Given the description of an element on the screen output the (x, y) to click on. 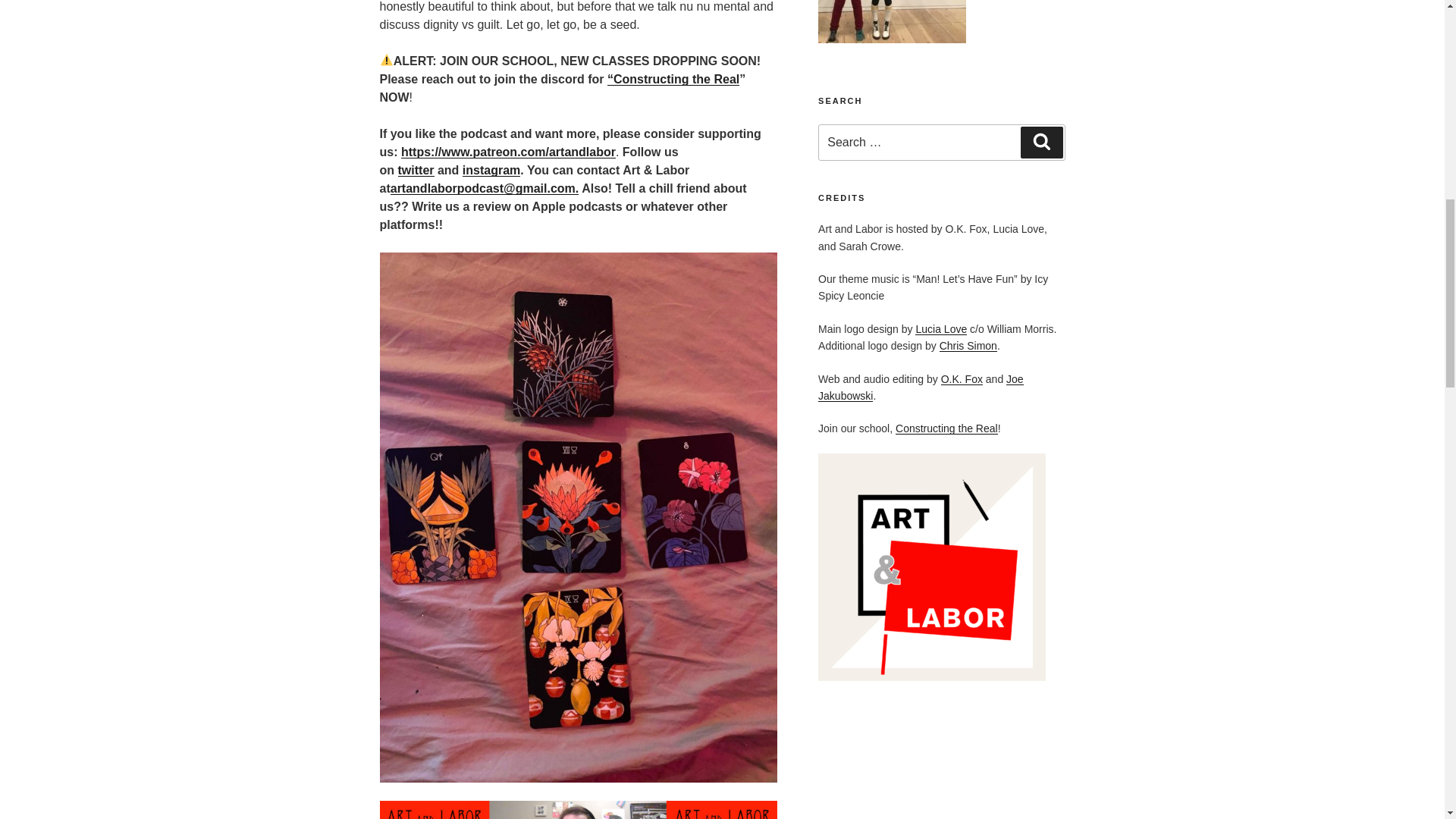
instagram (491, 169)
twitter (415, 169)
